Given the description of an element on the screen output the (x, y) to click on. 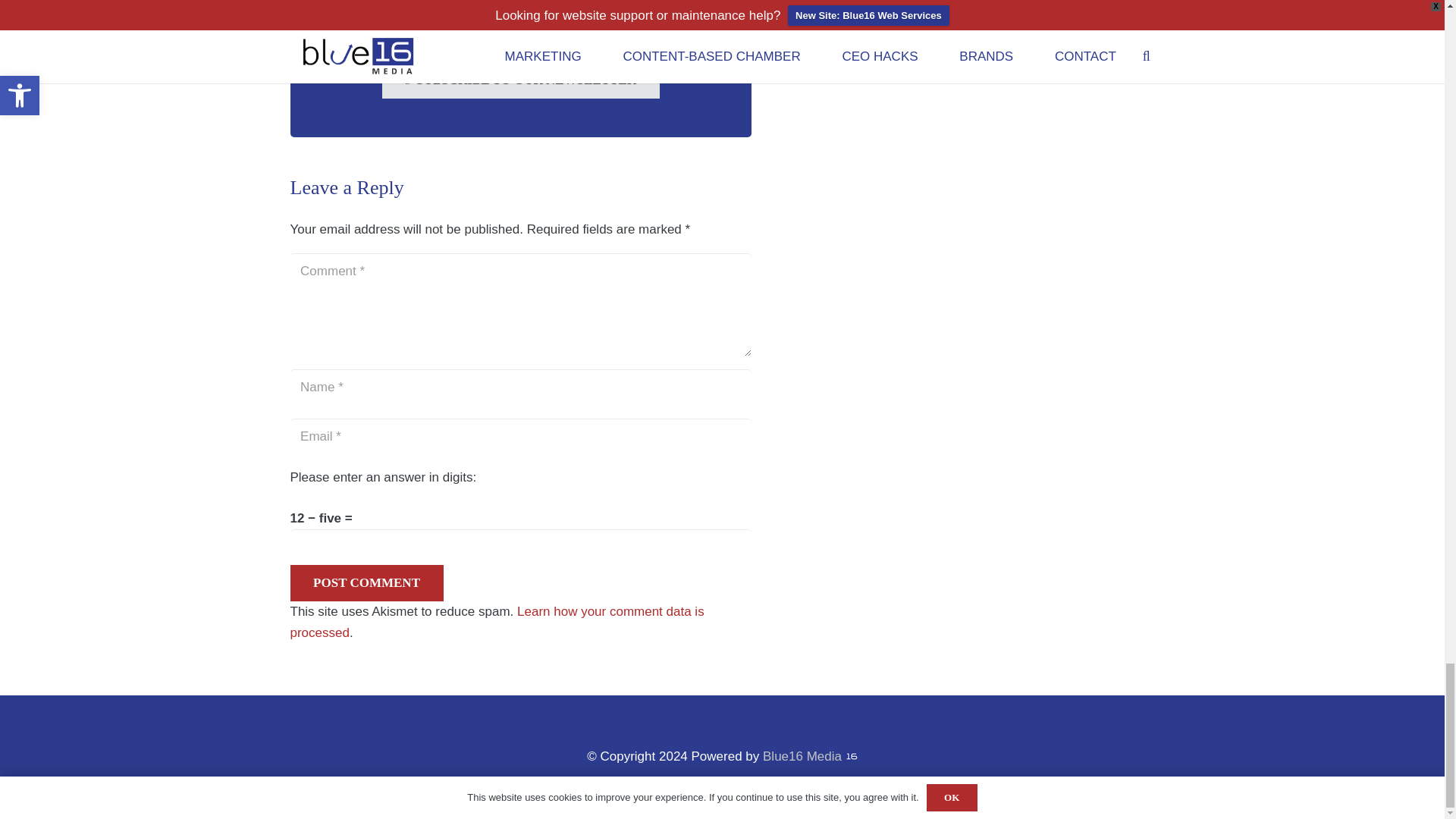
SUBSCRIBE TO OUR NEWSLETTER (520, 80)
Learn how your comment data is processed (496, 621)
CONTACT US (520, 31)
POST COMMENT (365, 583)
